Given the description of an element on the screen output the (x, y) to click on. 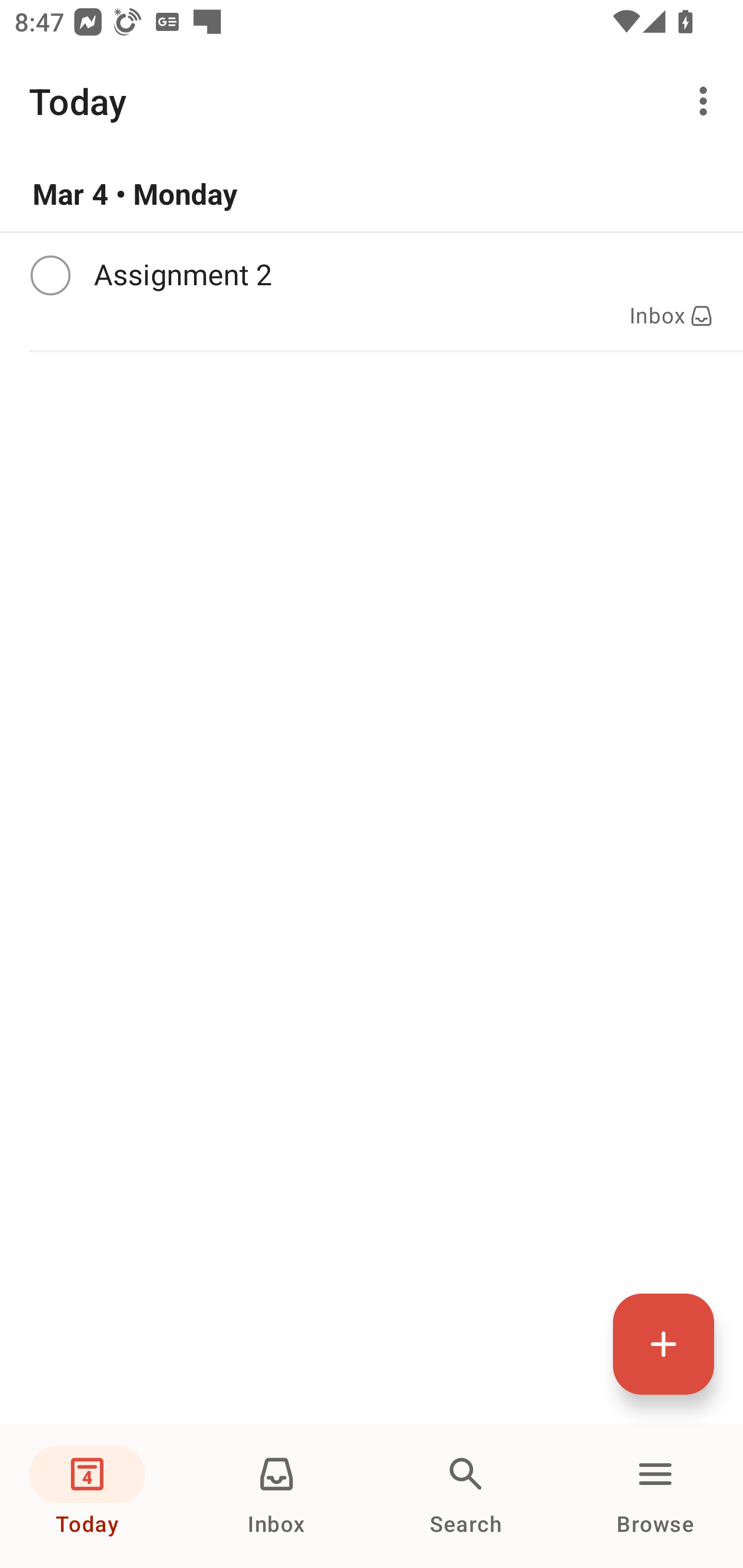
Today More options (371, 100)
More options (706, 101)
Mar 4 • Monday (371, 194)
Complete Assignment 2 Inbox (371, 291)
Complete (50, 275)
Quick add (663, 1343)
Inbox (276, 1495)
Search (465, 1495)
Browse (655, 1495)
